Given the description of an element on the screen output the (x, y) to click on. 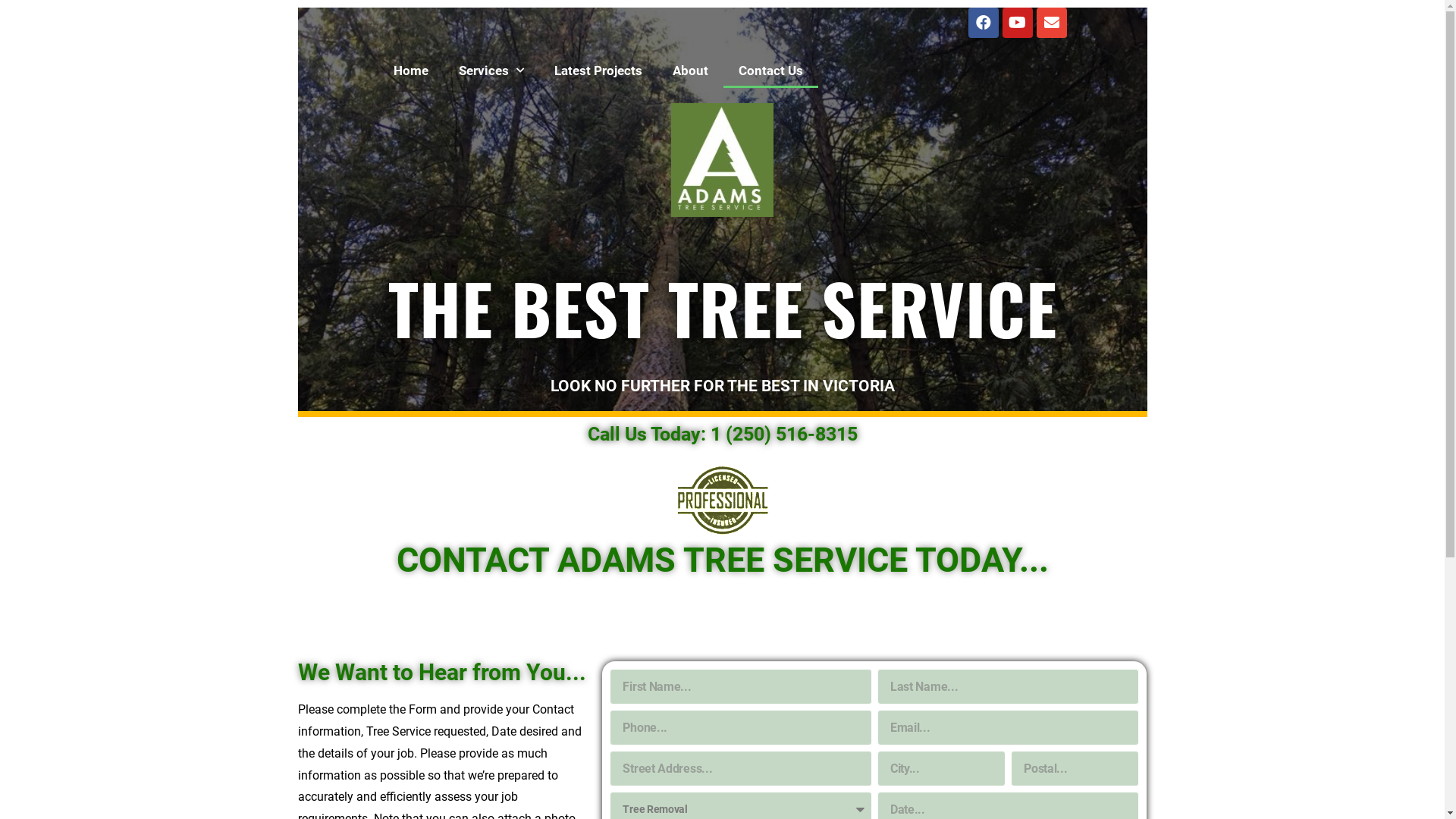
About Element type: text (689, 70)
Contact Us Element type: text (770, 70)
Services Element type: text (490, 70)
Home Element type: text (409, 70)
Latest Projects Element type: text (597, 70)
